Given the description of an element on the screen output the (x, y) to click on. 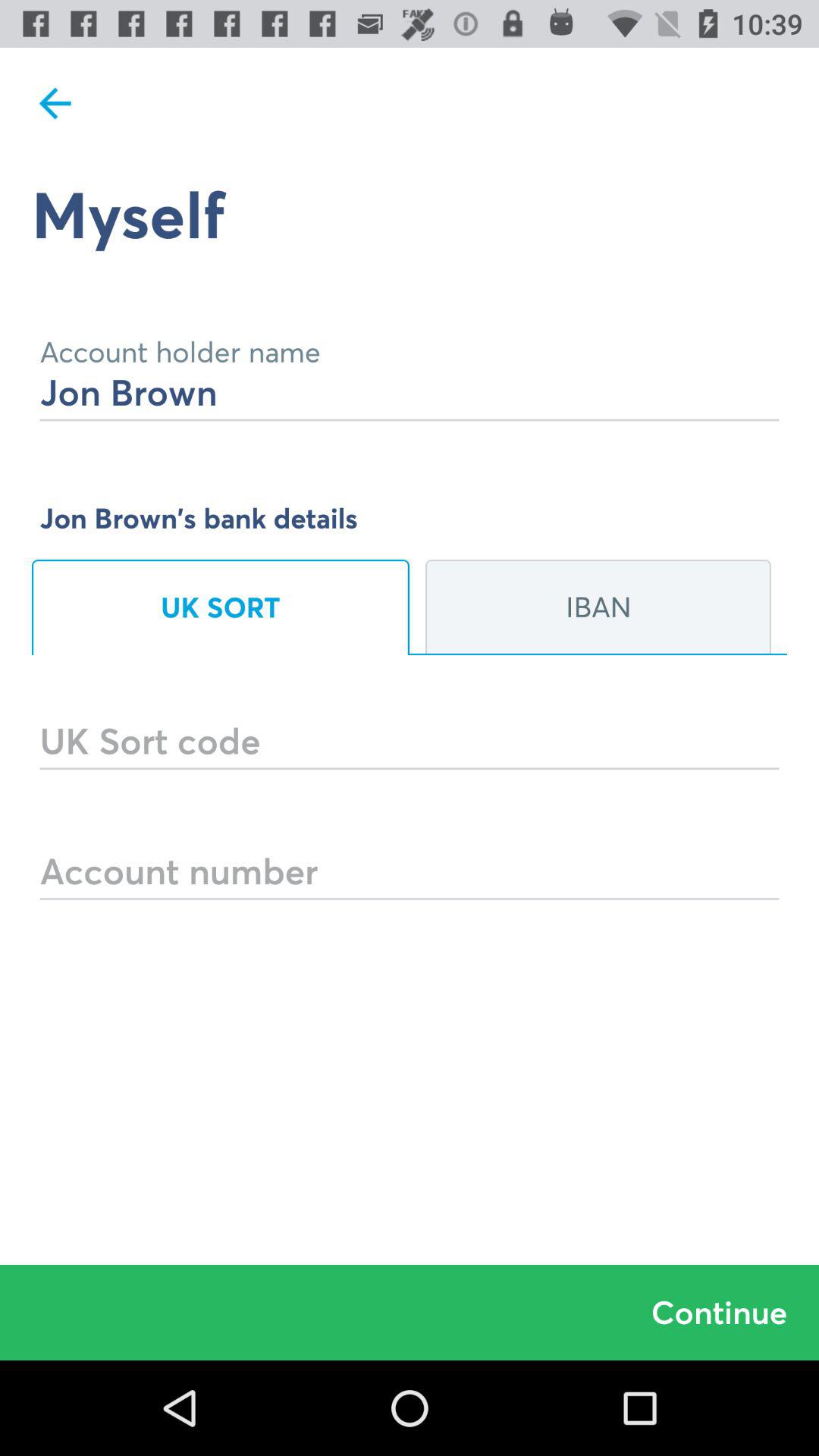
swipe until the continue (409, 1312)
